Given the description of an element on the screen output the (x, y) to click on. 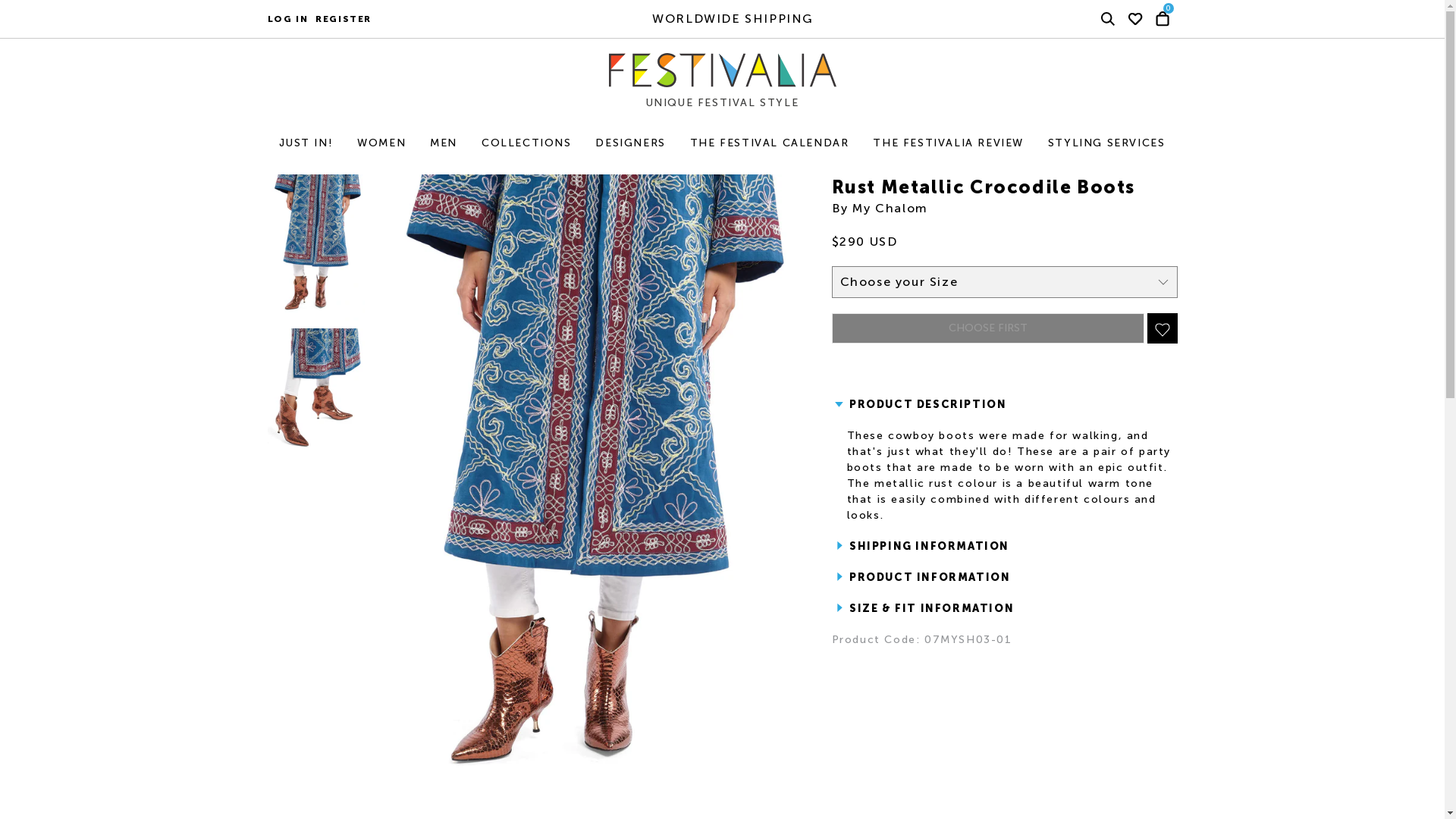
MEN (443, 142)
JUST IN! (306, 142)
REGISTER (343, 18)
WOMEN (381, 142)
LOG IN (286, 18)
UNIQUE FESTIVAL STYLE (741, 86)
